Given the description of an element on the screen output the (x, y) to click on. 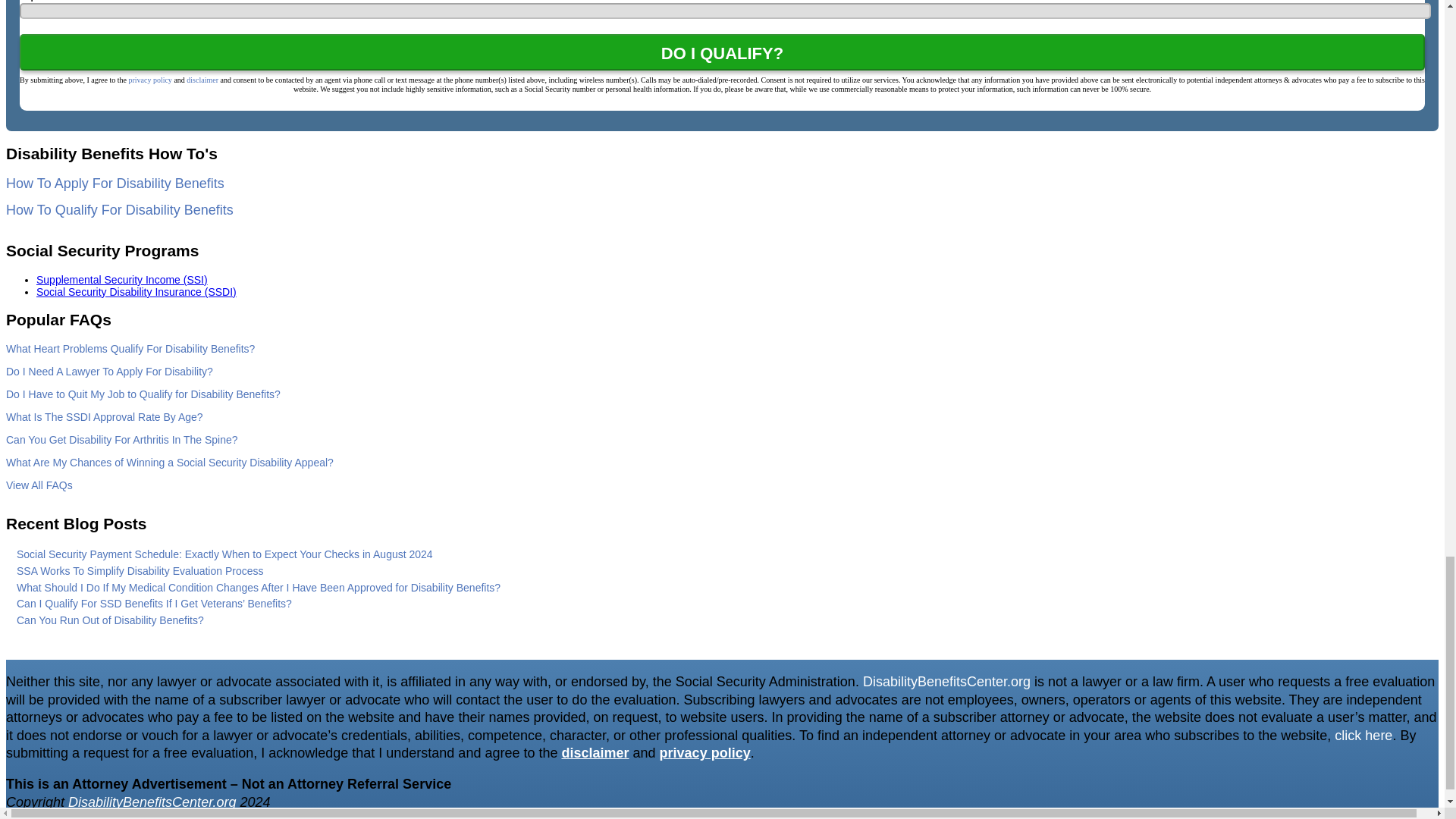
View All FAQs (38, 485)
privacy policy (149, 80)
DO I QUALIFY? (722, 52)
How To Qualify For Disability Benefits (118, 209)
Can You Get Disability For Arthritis In The Spine? (121, 439)
How To Apply For Disability Benefits (114, 183)
Do I Need A Lawyer To Apply For Disability? (108, 371)
What Is The SSDI Approval Rate By Age? (104, 417)
Do I Have to Quit My Job to Qualify for Disability Benefits? (143, 394)
What Heart Problems Qualify For Disability Benefits? (129, 348)
disclaimer (202, 80)
